Given the description of an element on the screen output the (x, y) to click on. 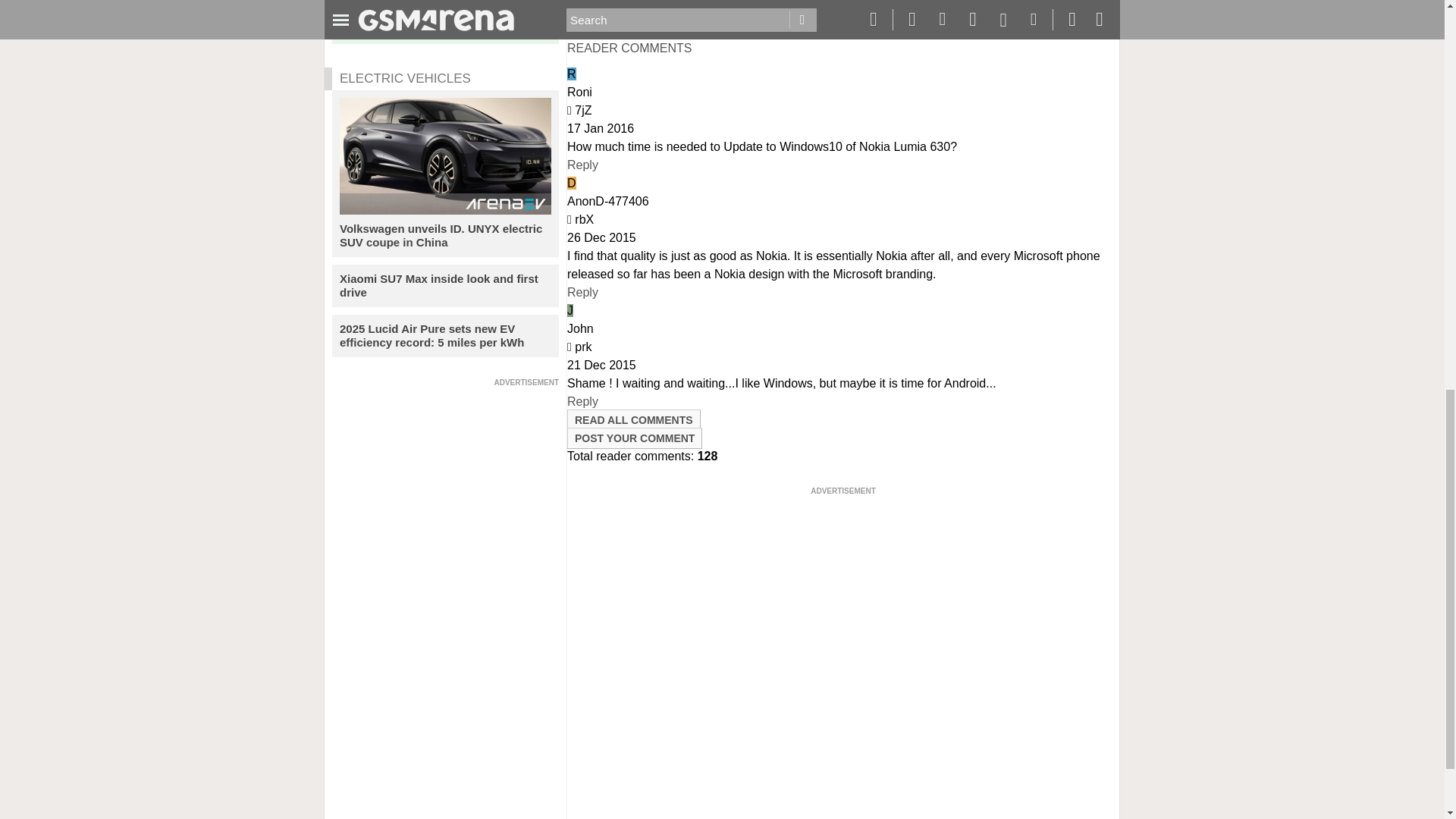
Reply (582, 164)
Encoded anonymized location (584, 219)
Encoded anonymized location (583, 346)
Encoded anonymized location (583, 110)
Reply to this post (582, 291)
Reply to this post (582, 164)
READER COMMENTS (629, 47)
Reply to this post (582, 400)
